Given the description of an element on the screen output the (x, y) to click on. 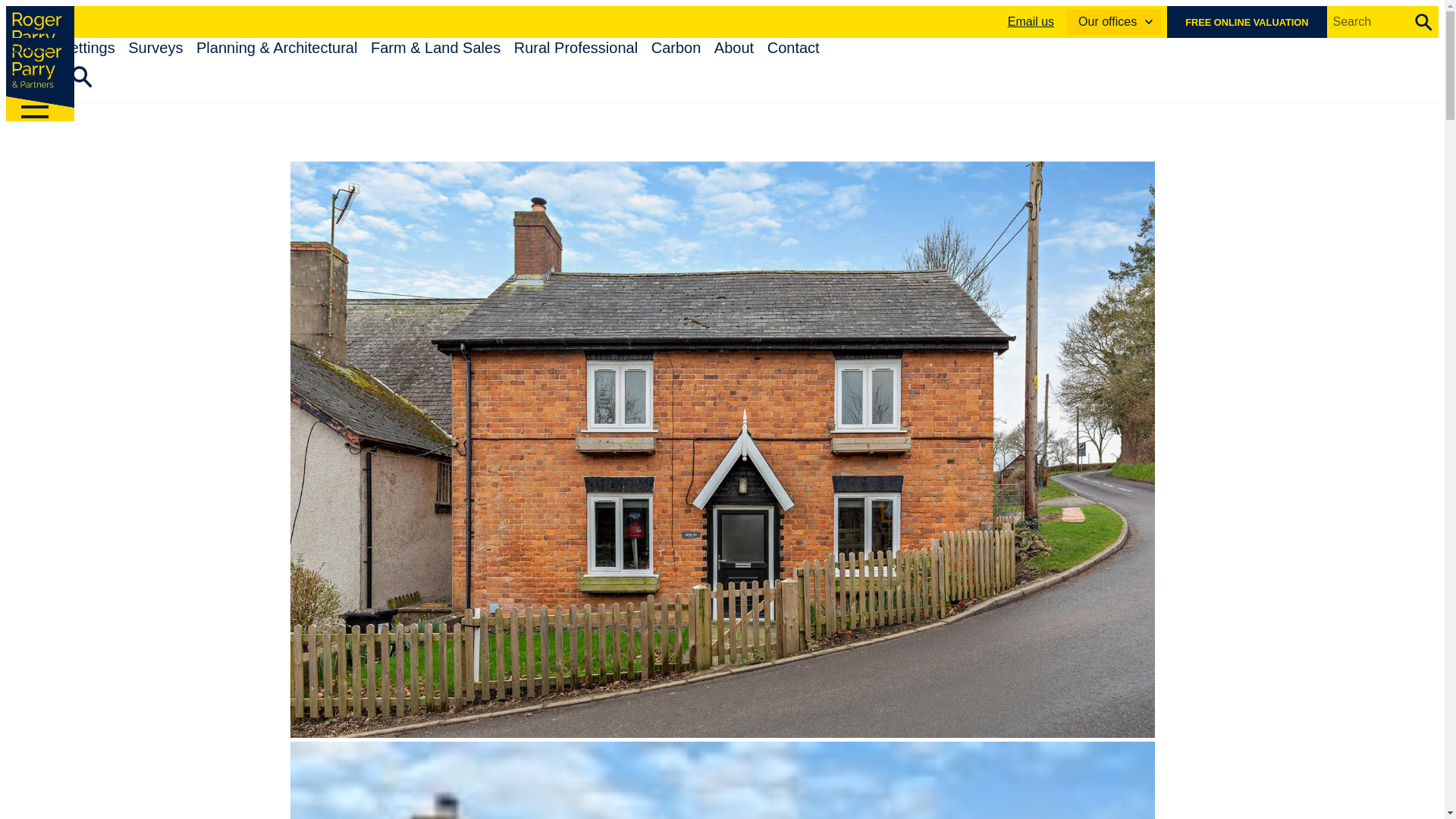
Email us (1030, 21)
Sales (28, 47)
FREE ONLINE VALUATION (1246, 21)
Lettings (88, 47)
Search (82, 76)
Skip to content (55, 13)
Our offices (1112, 22)
Surveys (155, 47)
